Given the description of an element on the screen output the (x, y) to click on. 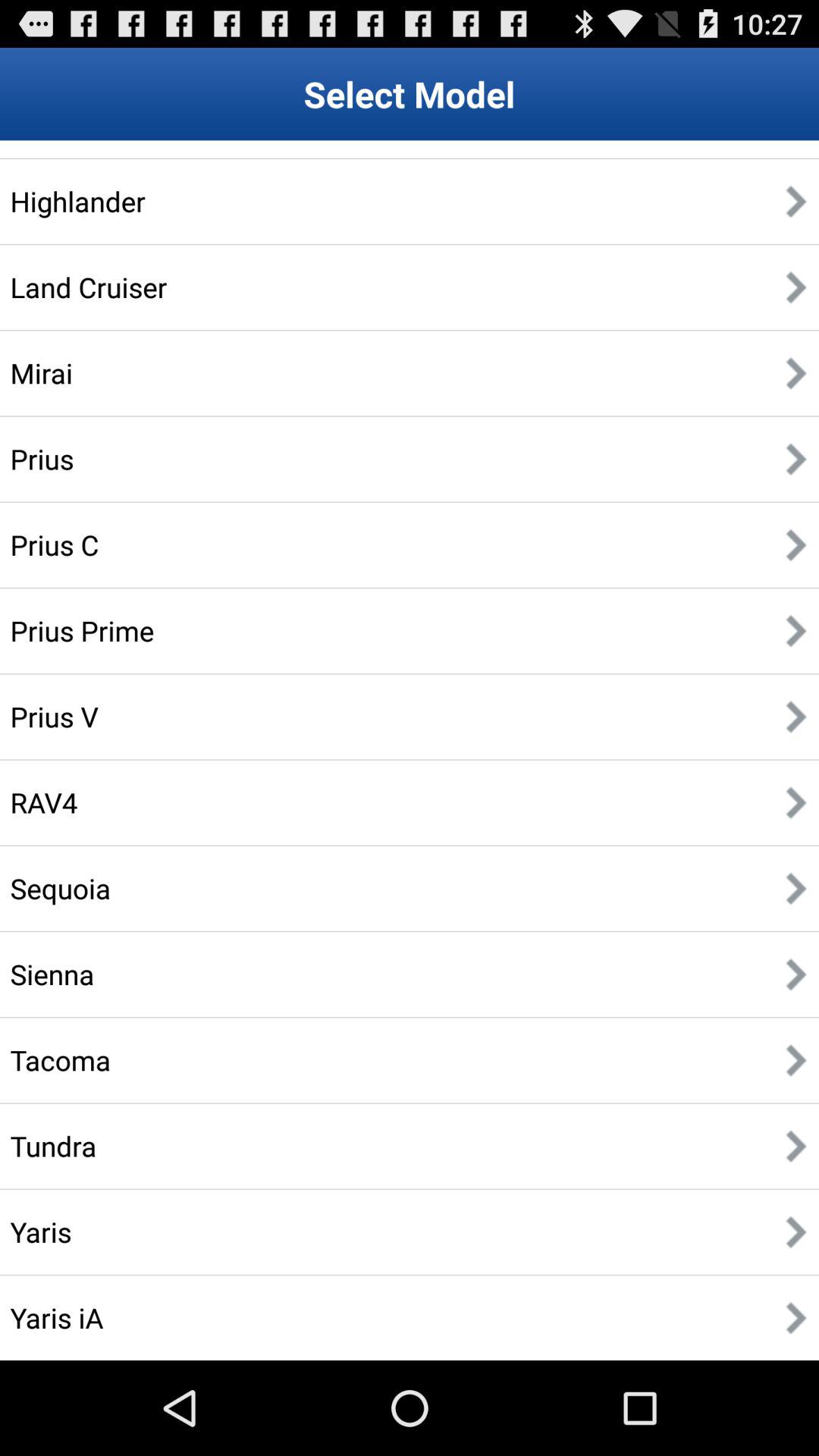
scroll to the prius c app (54, 544)
